Given the description of an element on the screen output the (x, y) to click on. 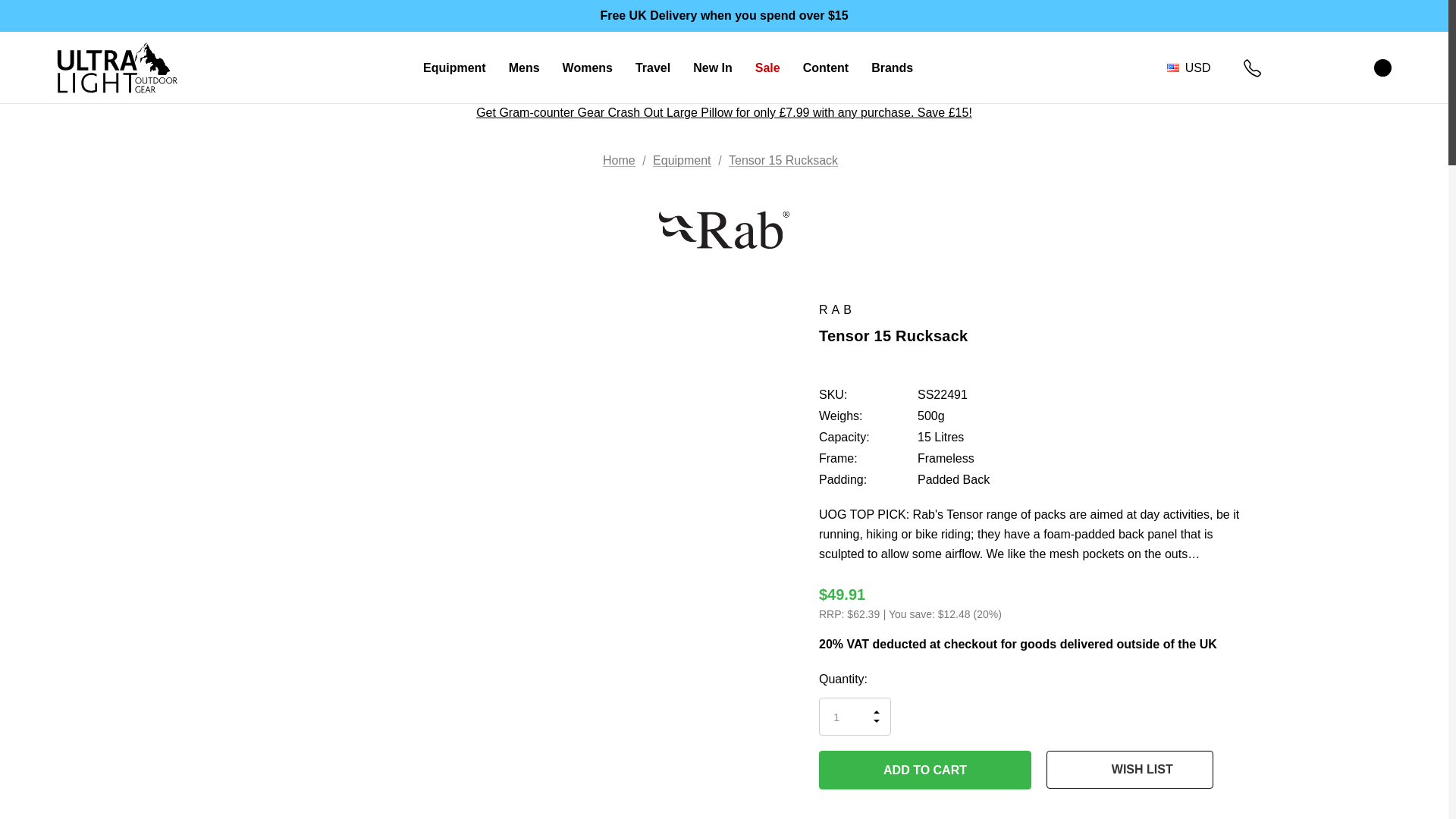
Ultralight Outdoor Gear (116, 67)
Add to Cart (924, 770)
Equipment (454, 67)
1 (854, 716)
